Given the description of an element on the screen output the (x, y) to click on. 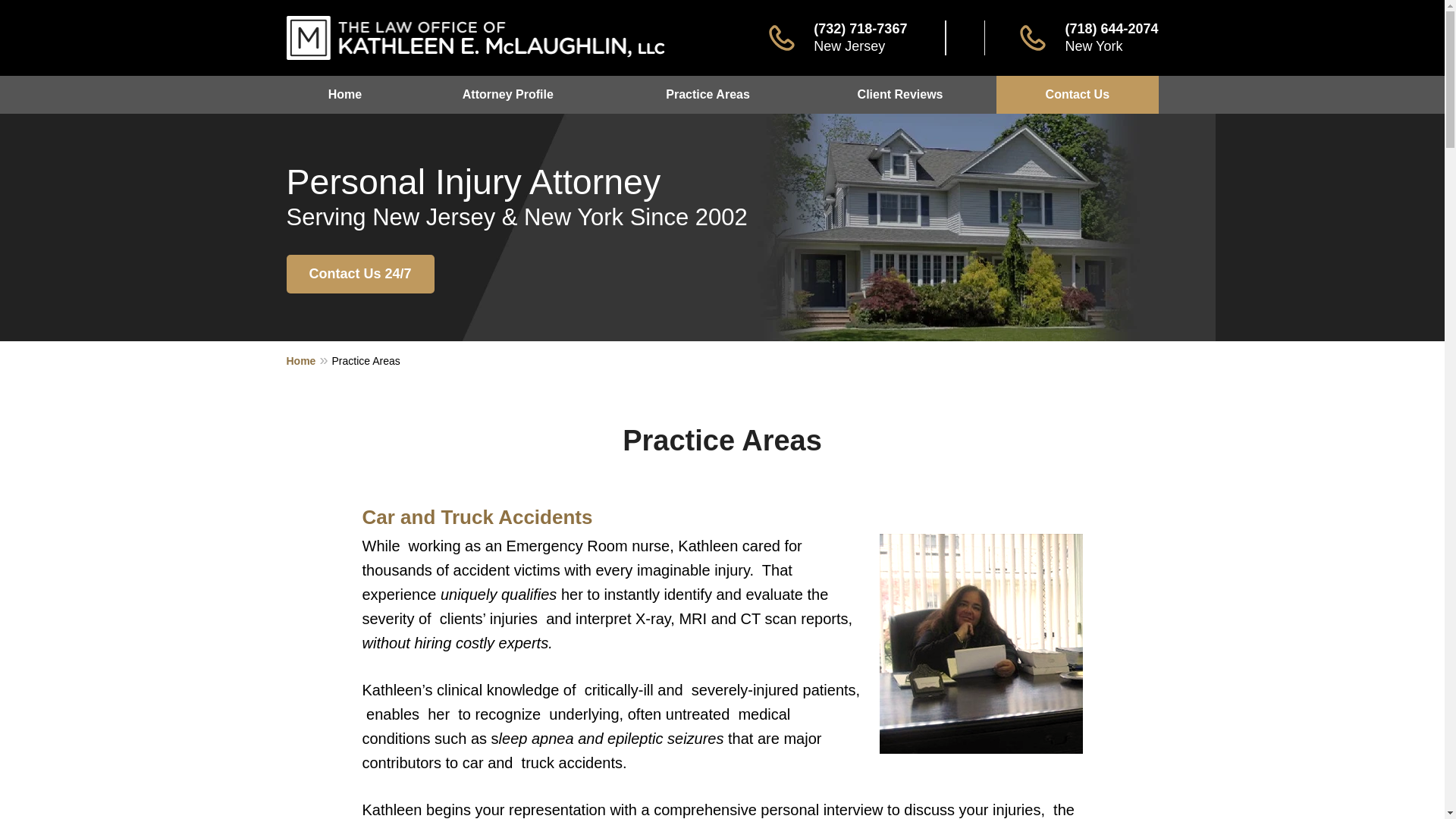
New York (1093, 46)
Practice Areas (707, 94)
Client Reviews (899, 94)
Home (308, 360)
New Jersey (849, 46)
Contact Us (1076, 94)
Home (345, 94)
Attorney Profile (507, 94)
